Given the description of an element on the screen output the (x, y) to click on. 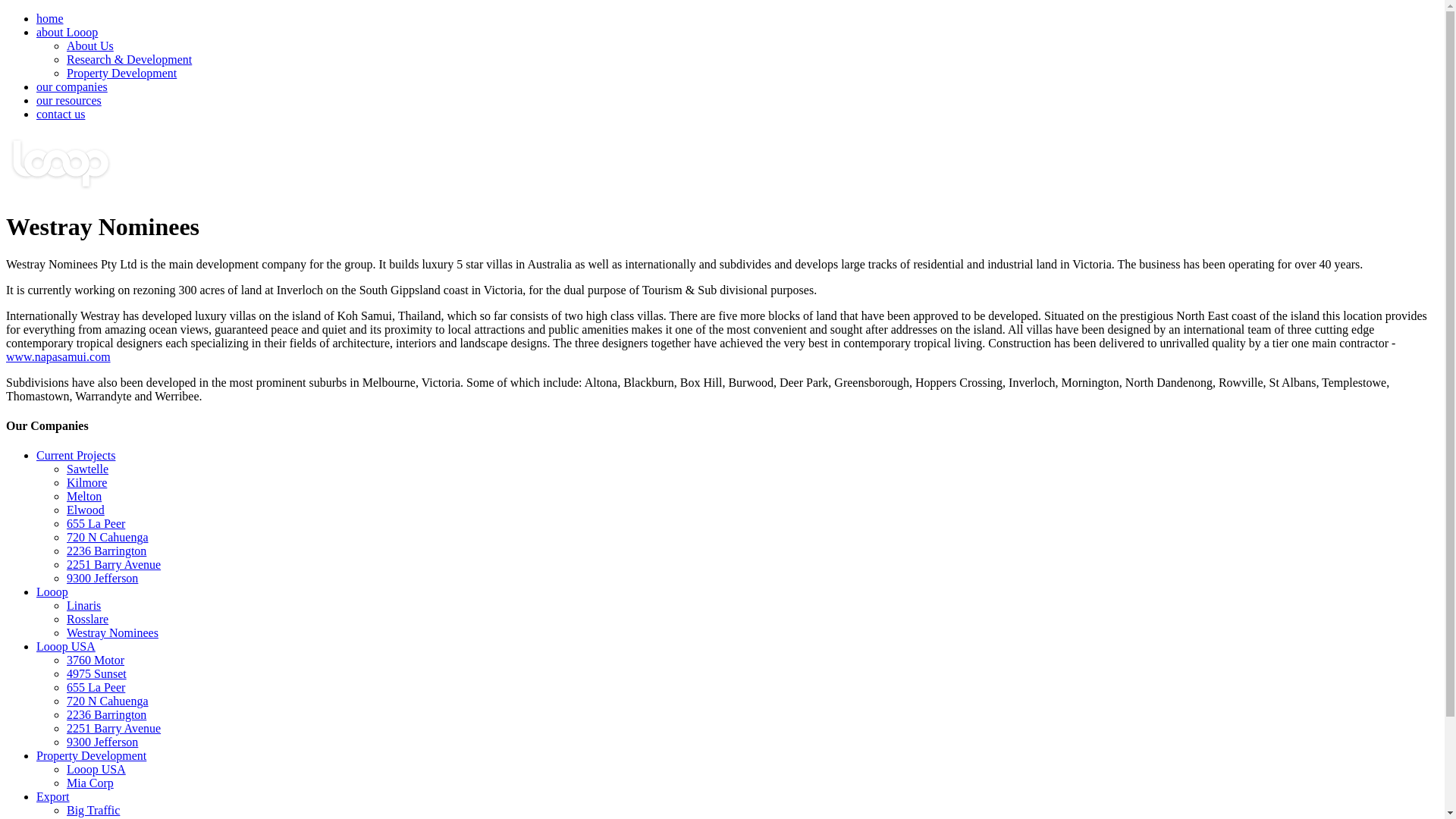
655 La Peer Element type: text (95, 523)
9300 Jefferson Element type: text (102, 577)
Research & Development Element type: text (128, 59)
4975 Sunset Element type: text (96, 673)
Looop Homepage Element type: hover (61, 189)
our companies Element type: text (71, 86)
Current Projects Element type: text (75, 454)
Linaris Element type: text (83, 605)
contact us Element type: text (60, 113)
Looop Element type: text (52, 591)
Mia Corp Element type: text (89, 782)
home Element type: text (49, 18)
About Us Element type: text (89, 45)
Big Traffic Element type: text (92, 809)
2251 Barry Avenue Element type: text (113, 564)
720 N Cahuenga Element type: text (107, 700)
3760 Motor Element type: text (95, 659)
Elwood Element type: text (85, 509)
our resources Element type: text (68, 100)
Looop USA Element type: text (65, 646)
Looop USA Element type: text (95, 768)
Property Development Element type: text (91, 755)
Kilmore Element type: text (86, 482)
2236 Barrington Element type: text (106, 714)
www.napasamui.com Element type: text (58, 356)
2236 Barrington Element type: text (106, 550)
Sawtelle Element type: text (87, 468)
Export Element type: text (52, 796)
Melton Element type: text (83, 495)
9300 Jefferson Element type: text (102, 741)
2251 Barry Avenue Element type: text (113, 727)
Property Development Element type: text (121, 72)
720 N Cahuenga Element type: text (107, 536)
about Looop Element type: text (66, 31)
655 La Peer Element type: text (95, 686)
Westray Nominees Element type: text (112, 632)
Rosslare Element type: text (87, 618)
